Given the description of an element on the screen output the (x, y) to click on. 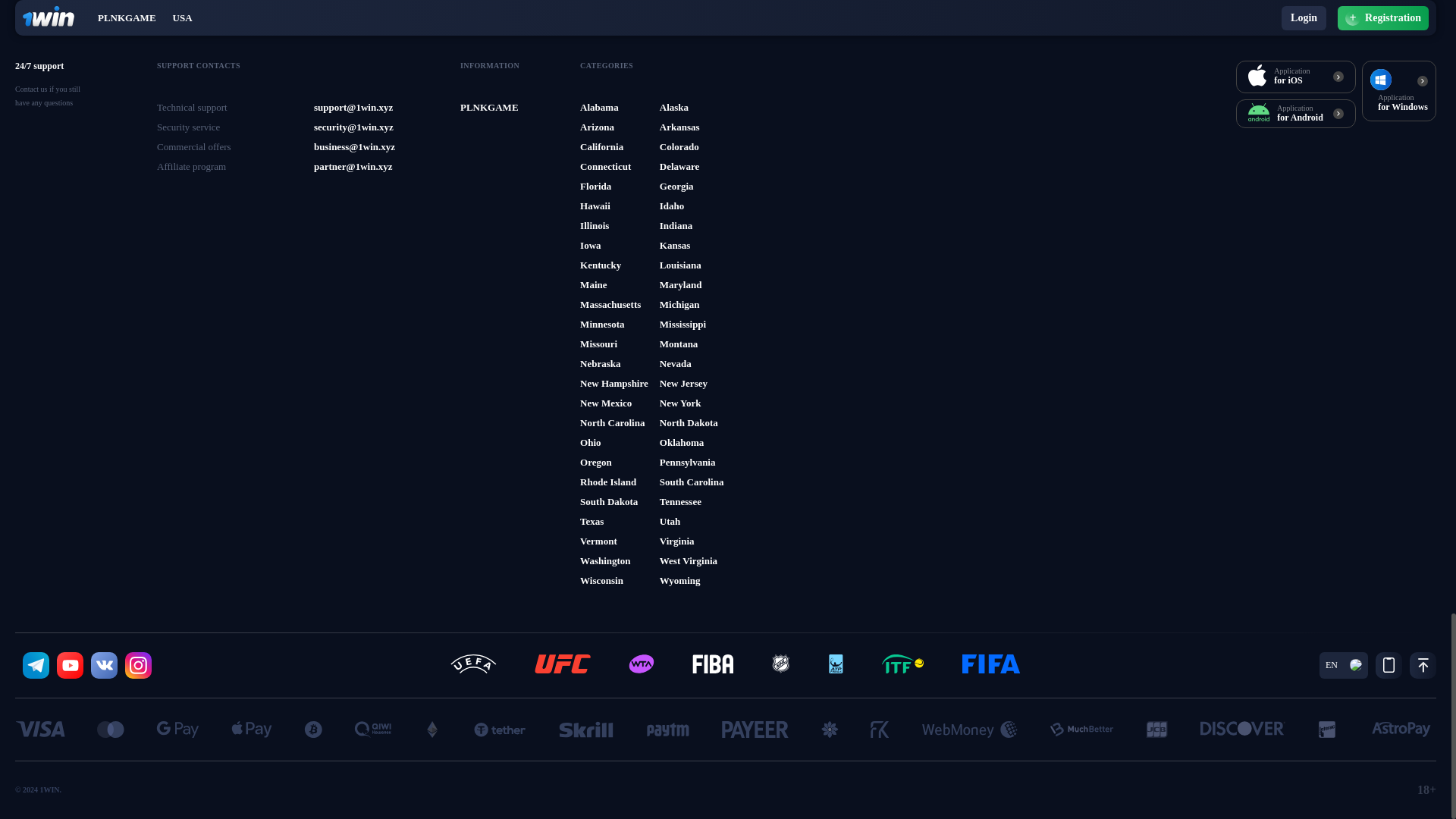
PLNKGAME (489, 107)
Alaska (673, 107)
Alabama (598, 107)
